Given the description of an element on the screen output the (x, y) to click on. 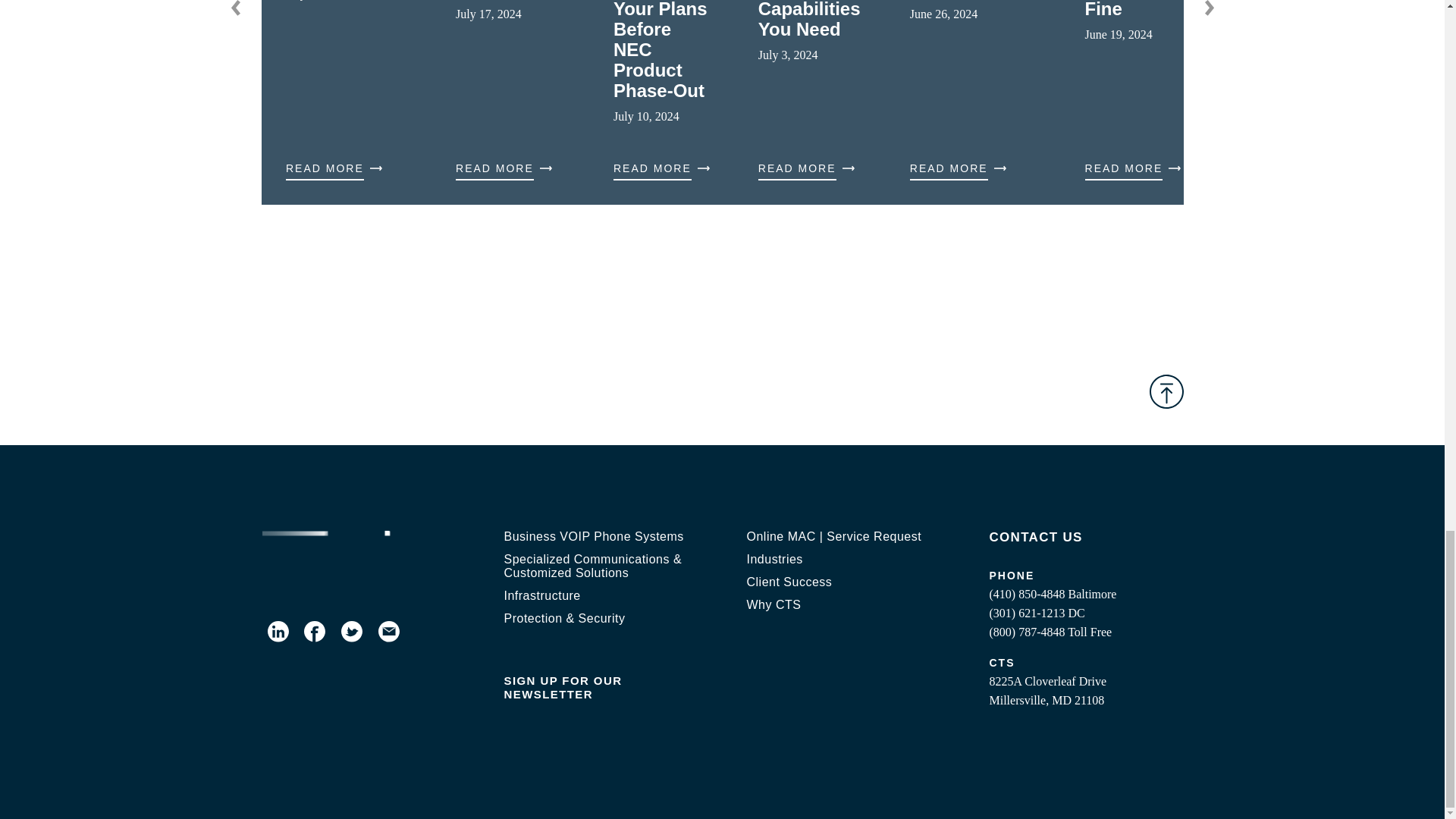
Jump to top (1166, 391)
